Given the description of an element on the screen output the (x, y) to click on. 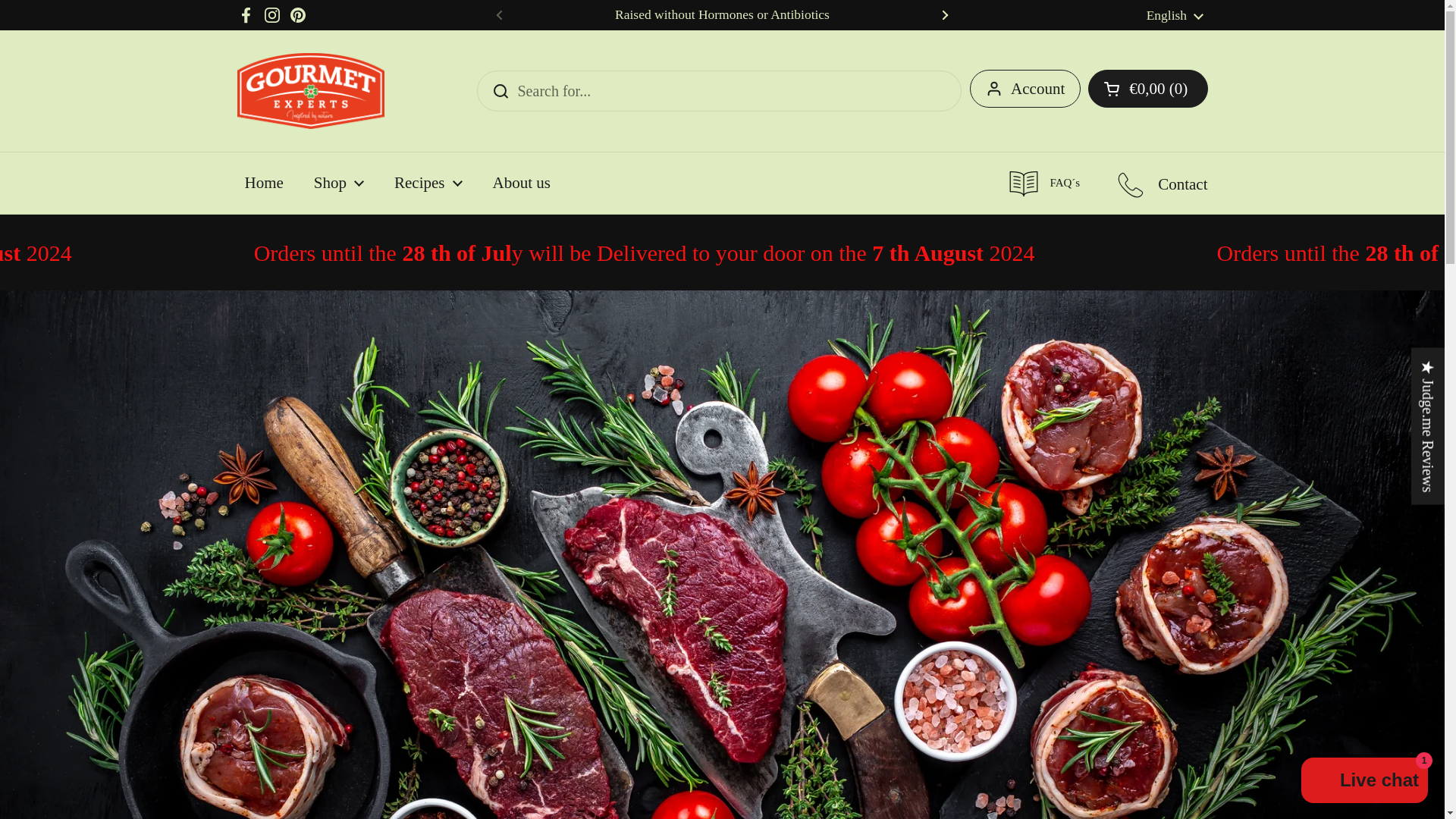
English (1175, 14)
Instagram (271, 14)
Contact (1162, 182)
Home (263, 182)
Gourmet Experts Ltd (309, 90)
Open cart (1147, 88)
Account (1024, 88)
About us (521, 182)
Facebook (244, 14)
Shop (338, 182)
Shopify online store chat (1364, 781)
Recipes (427, 182)
Pinterest (296, 14)
